Given the description of an element on the screen output the (x, y) to click on. 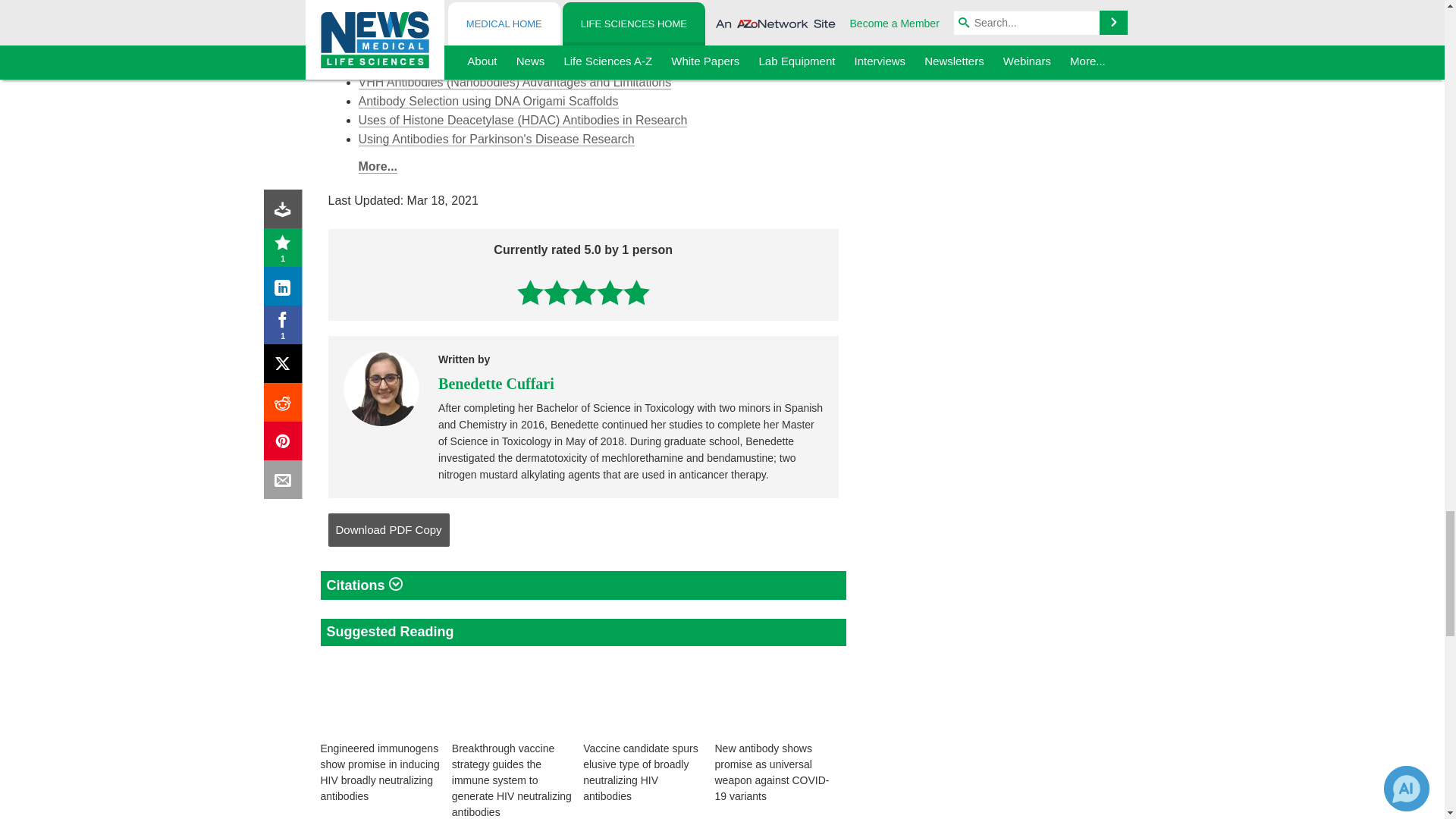
Rate this 5 stars out of 5 (636, 292)
Rate this 4 stars out of 5 (609, 292)
